Given the description of an element on the screen output the (x, y) to click on. 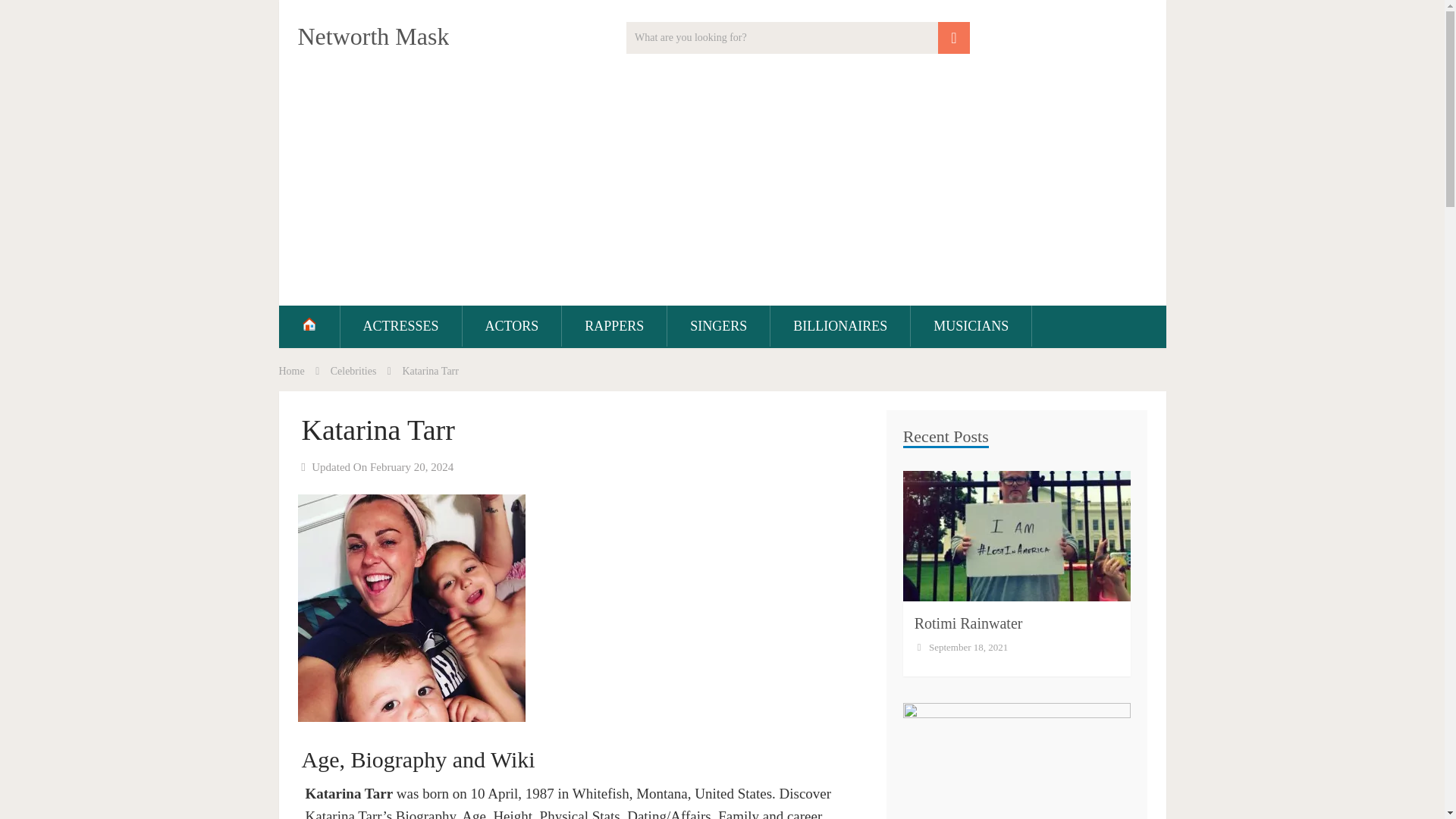
Networth Mask (372, 36)
What are you looking for? (797, 38)
Celebrities (353, 370)
ACTRESSES (400, 325)
Home (291, 370)
MUSICIANS (970, 325)
RAPPERS (614, 325)
Rotimi Rainwater (968, 623)
SINGERS (718, 325)
